Given the description of an element on the screen output the (x, y) to click on. 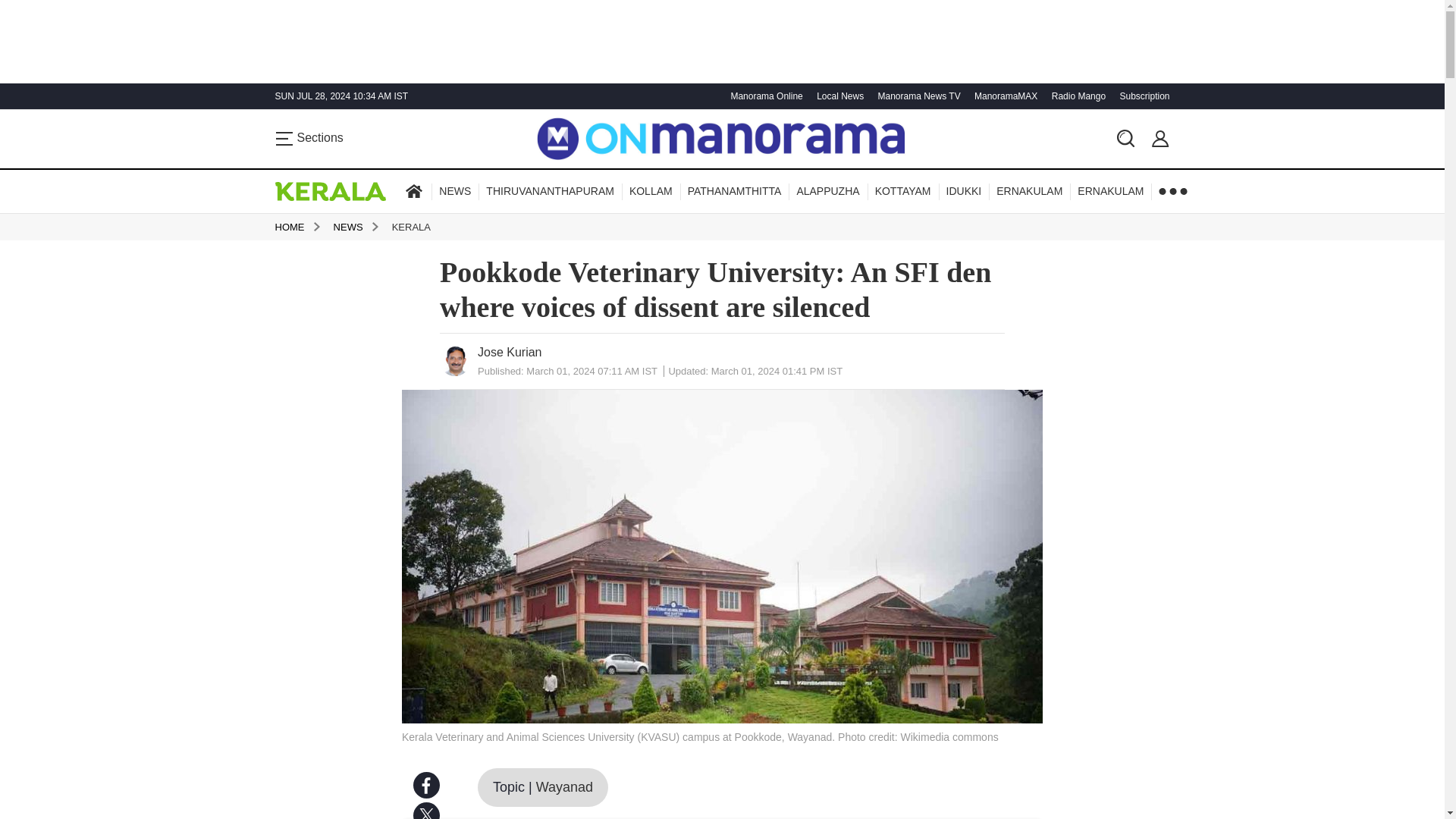
THIRUVANANTHAPURAM (550, 191)
PATHANAMTHITTA (734, 191)
3rd party ad content (721, 26)
Radio Mango (1076, 95)
Subscription (1142, 95)
Local News (837, 95)
NEWS (454, 191)
KOLLAM (650, 191)
ManoramaMAX (1003, 95)
Manorama News TV (916, 95)
Manorama Online (764, 95)
